Given the description of an element on the screen output the (x, y) to click on. 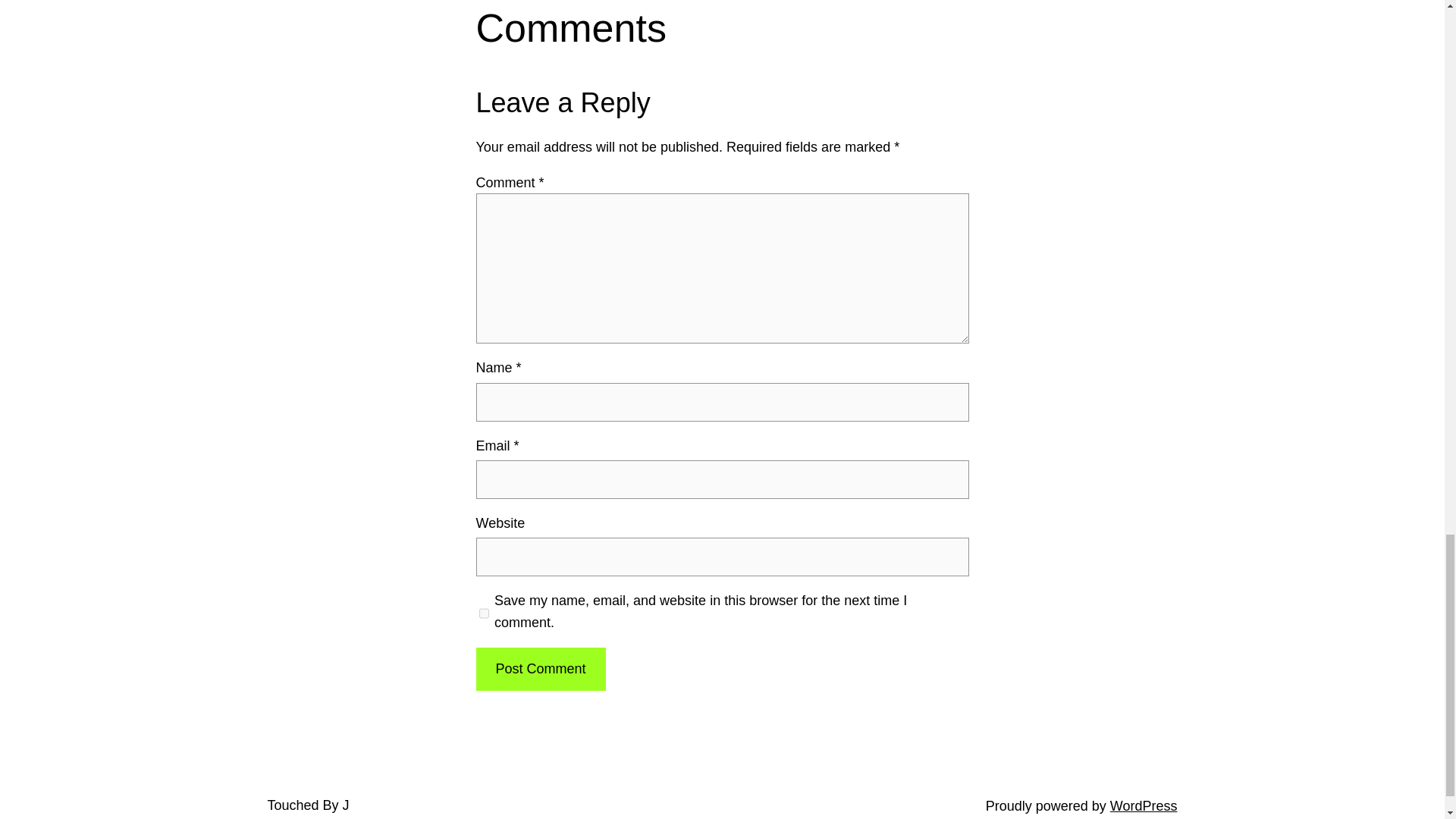
Post Comment (540, 669)
WordPress (1143, 806)
Post Comment (540, 669)
Touched By J (307, 805)
